Given the description of an element on the screen output the (x, y) to click on. 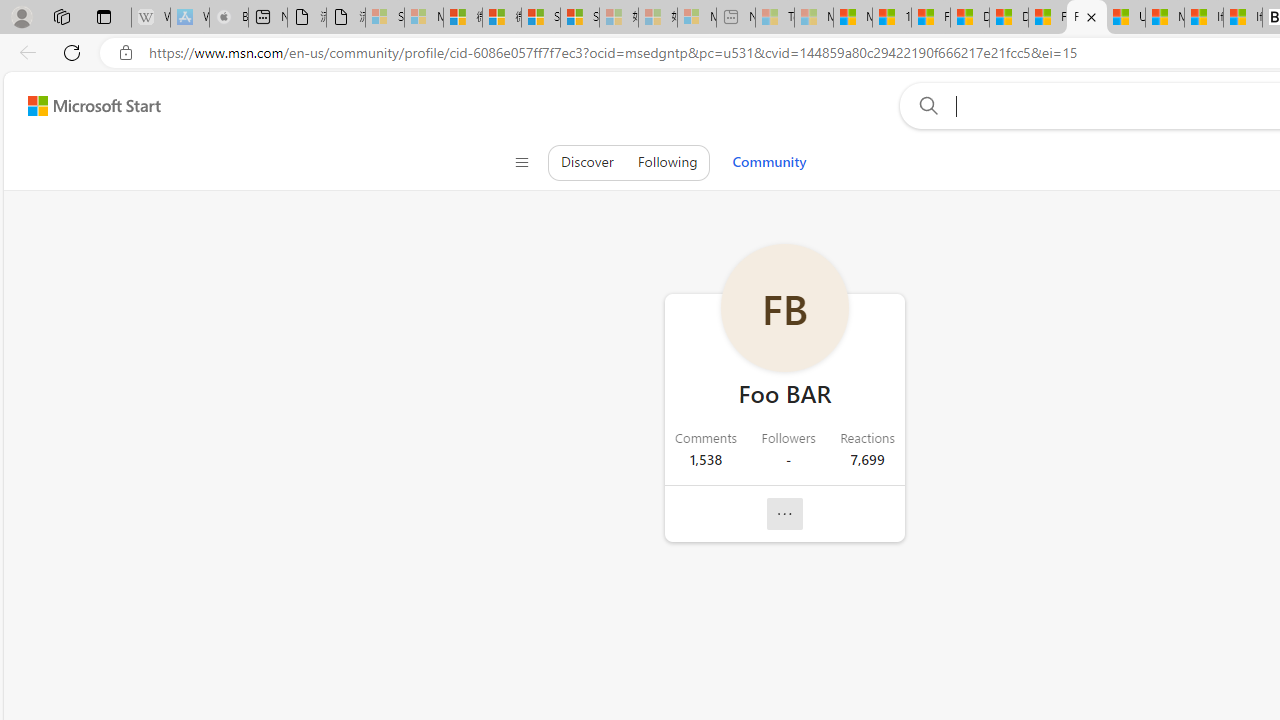
Sign in to your Microsoft account - Sleeping (385, 17)
Class: cwt-icon-vector (785, 514)
Food and Drink - MSN (930, 17)
Report profile (784, 513)
